Given the description of an element on the screen output the (x, y) to click on. 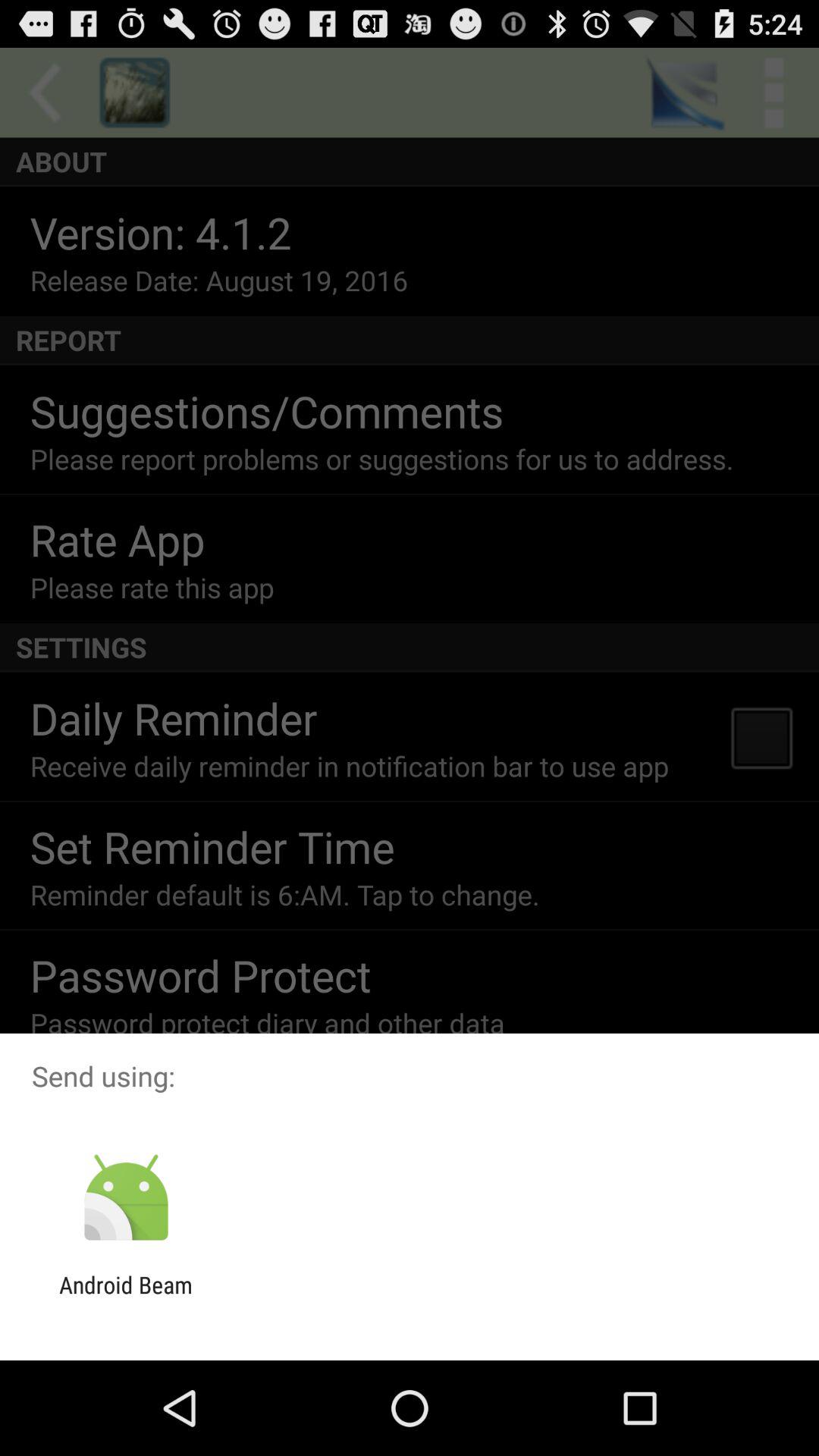
select icon below the send using: item (126, 1198)
